Given the description of an element on the screen output the (x, y) to click on. 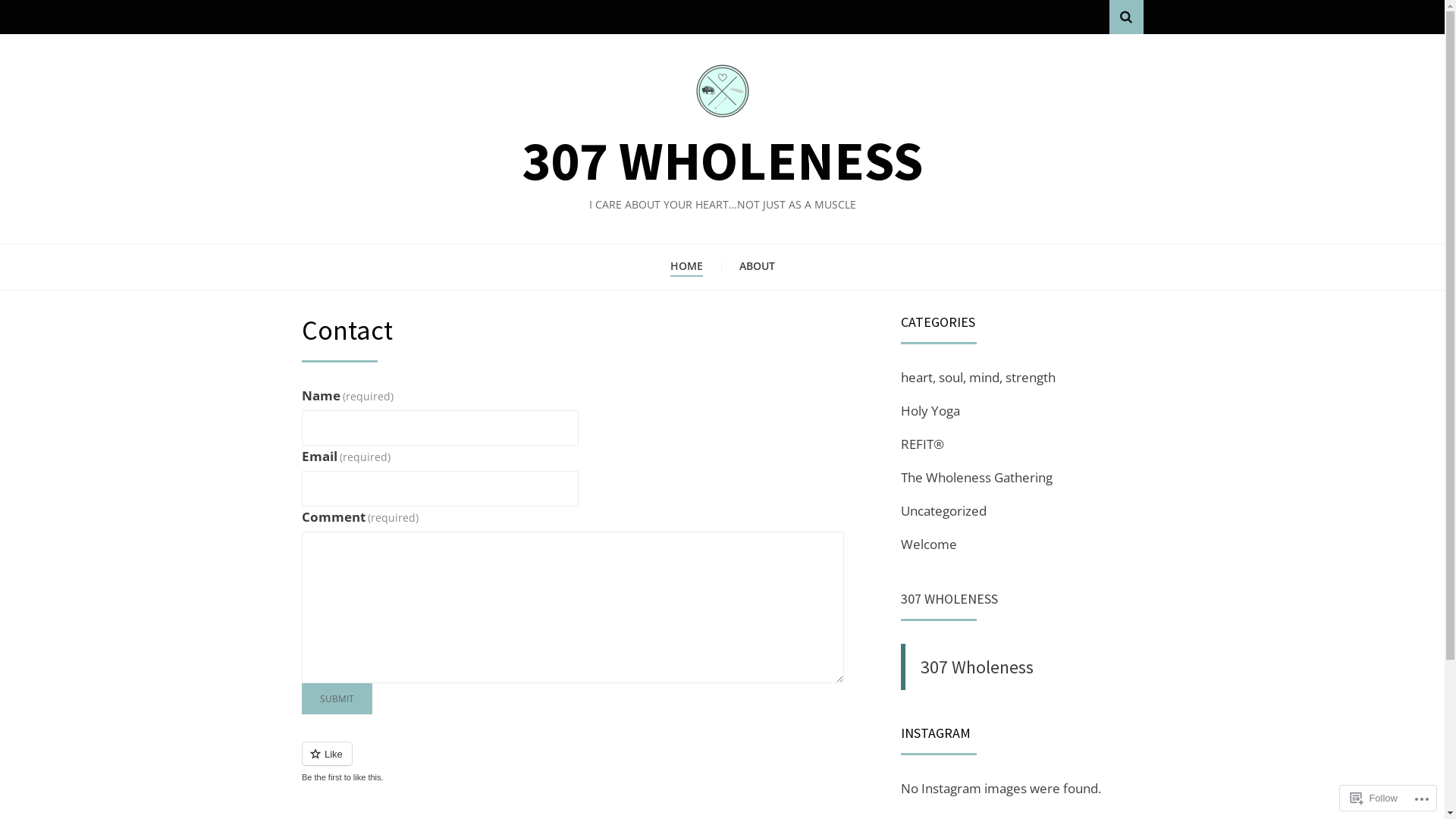
Search Element type: hover (1125, 17)
ABOUT Element type: text (756, 266)
Holy Yoga Element type: text (930, 410)
Uncategorized Element type: text (943, 510)
Follow Element type: text (1373, 797)
SUBMIT Element type: text (336, 698)
Like or Reblog Element type: hover (578, 762)
The Wholeness Gathering Element type: text (976, 477)
307 Wholeness Element type: text (976, 666)
307 WHOLENESS Element type: text (948, 598)
heart, soul, mind, strength Element type: text (977, 376)
307 WHOLENESS Element type: text (721, 159)
Welcome Element type: text (928, 543)
HOME Element type: text (686, 266)
